Given the description of an element on the screen output the (x, y) to click on. 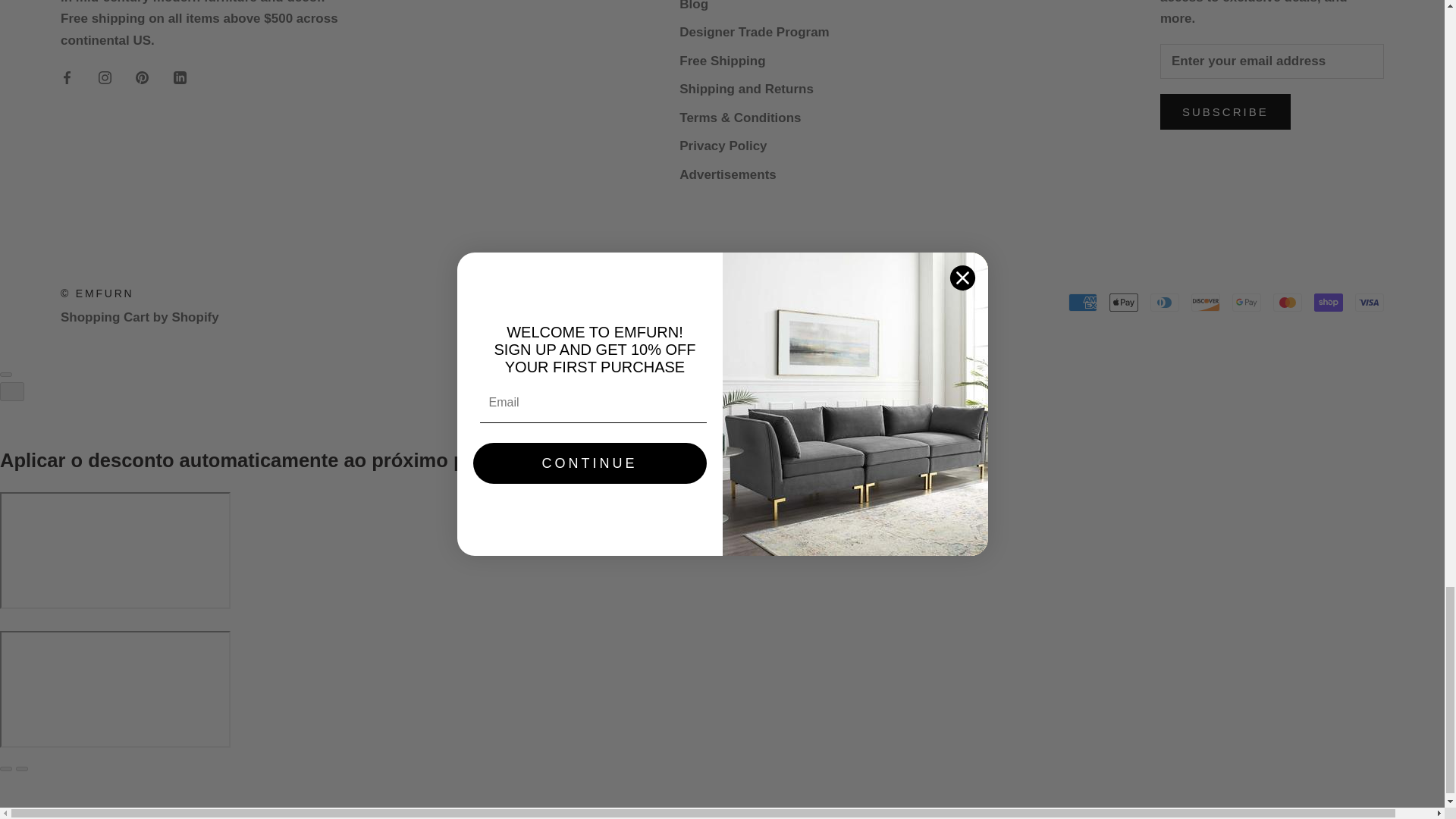
Mastercard (1286, 302)
Diners Club (1164, 302)
Shop Pay (1328, 302)
Google Pay (1245, 302)
American Express (1082, 302)
Apple Pay (1123, 302)
Discover (1205, 302)
